Given the description of an element on the screen output the (x, y) to click on. 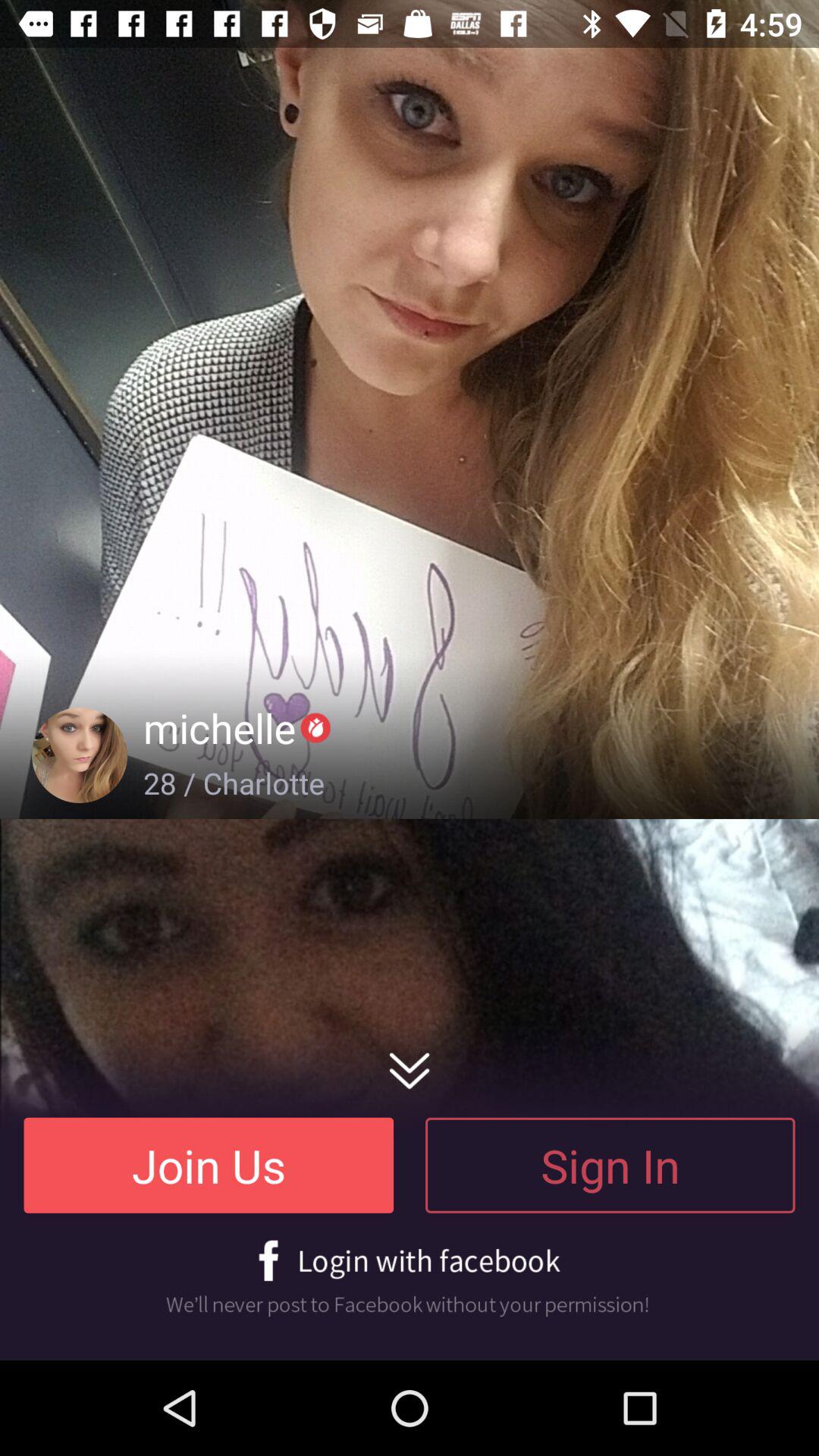
press the icon at the bottom left corner (208, 1165)
